Given the description of an element on the screen output the (x, y) to click on. 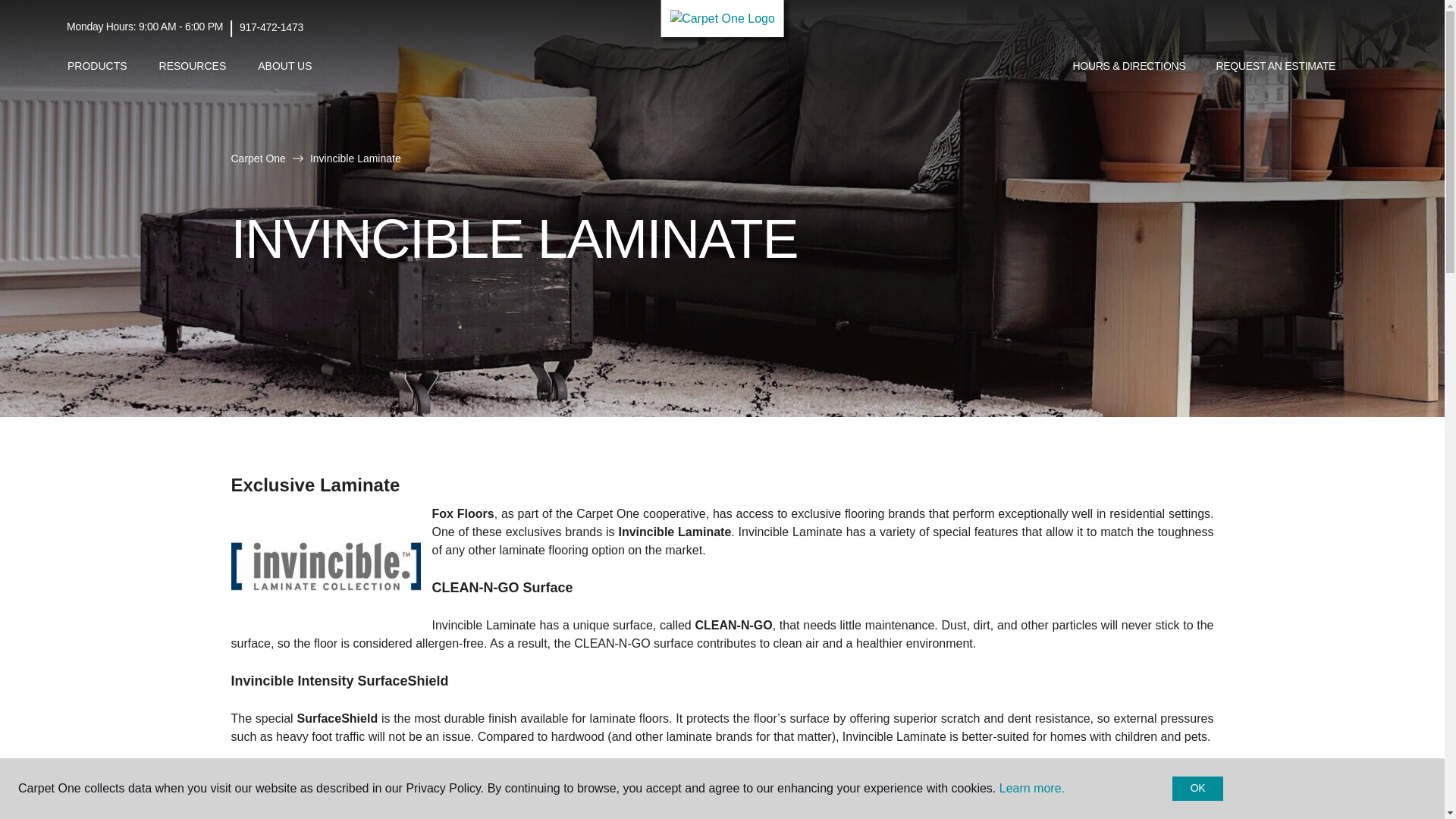
917-472-1473 (271, 27)
ABOUT US (284, 66)
REQUEST AN ESTIMATE (1276, 66)
PRODUCTS (97, 66)
RESOURCES (193, 66)
